Given the description of an element on the screen output the (x, y) to click on. 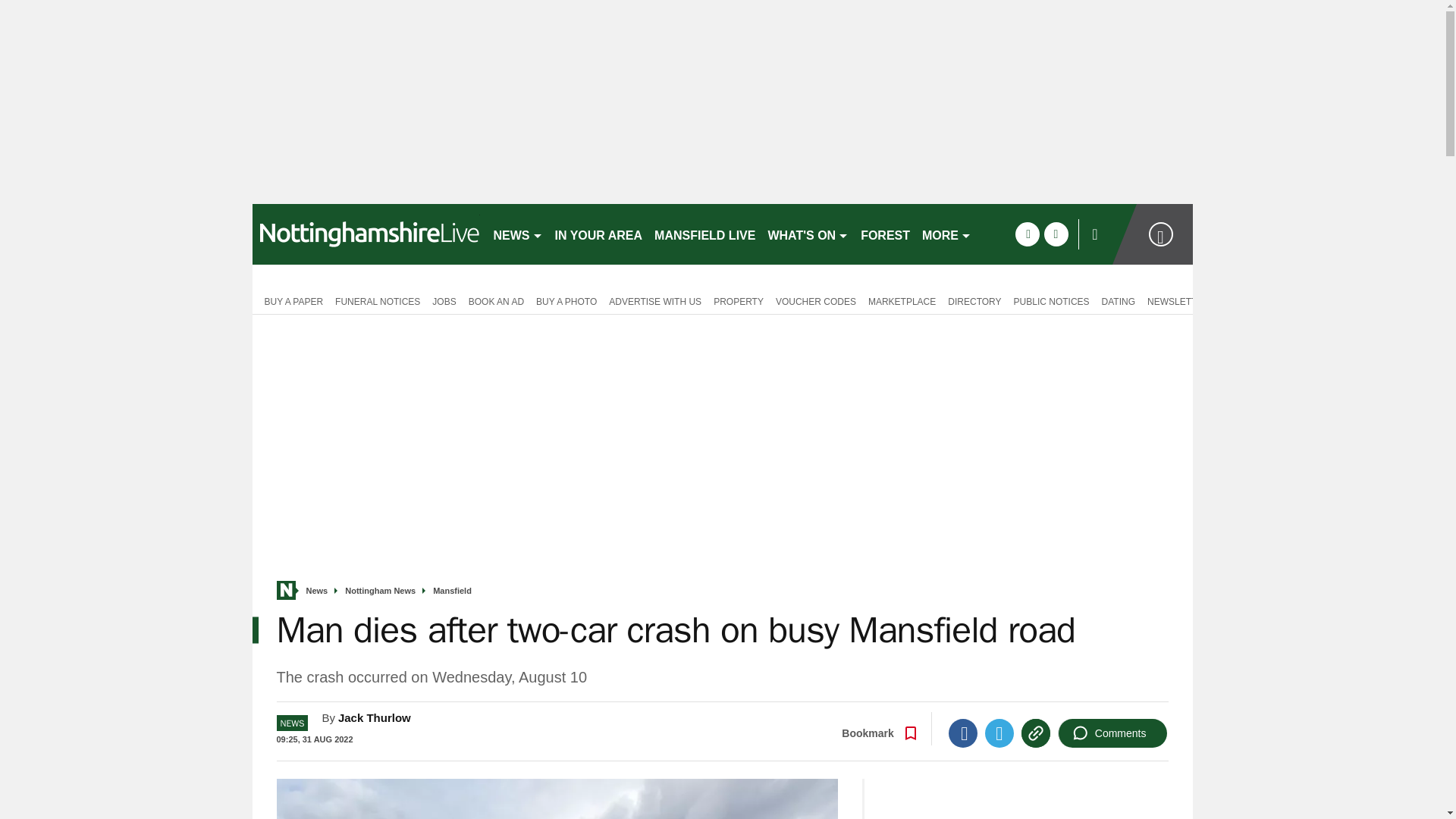
WHAT'S ON (807, 233)
MANSFIELD LIVE (704, 233)
Twitter (999, 733)
NEWS (517, 233)
IN YOUR AREA (598, 233)
twitter (1055, 233)
facebook (1026, 233)
FOREST (884, 233)
Comments (1112, 733)
MORE (945, 233)
